Given the description of an element on the screen output the (x, y) to click on. 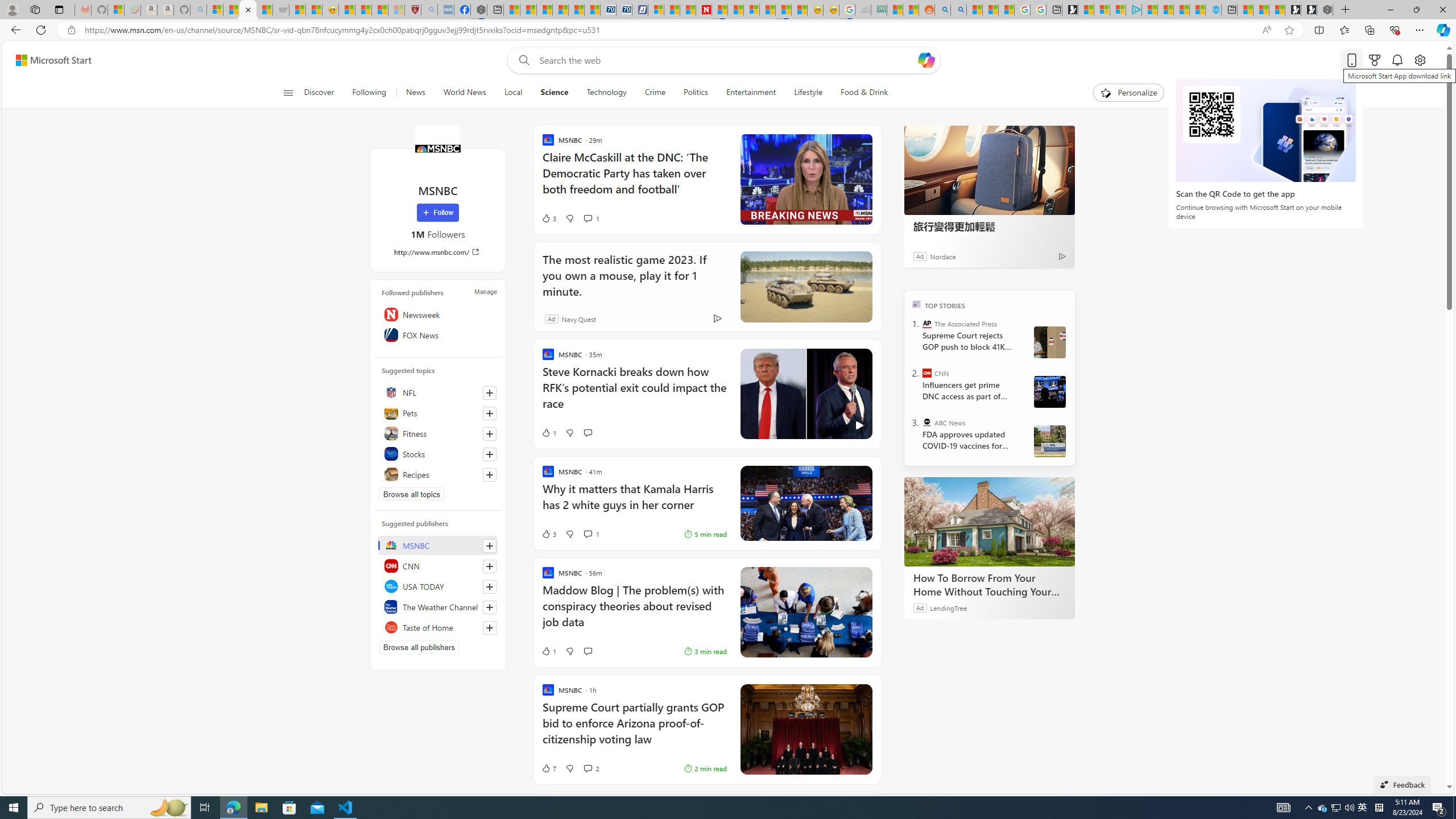
Enter your search term (726, 59)
12 Popular Science Lies that Must be Corrected - Sleeping (395, 9)
